Given the description of an element on the screen output the (x, y) to click on. 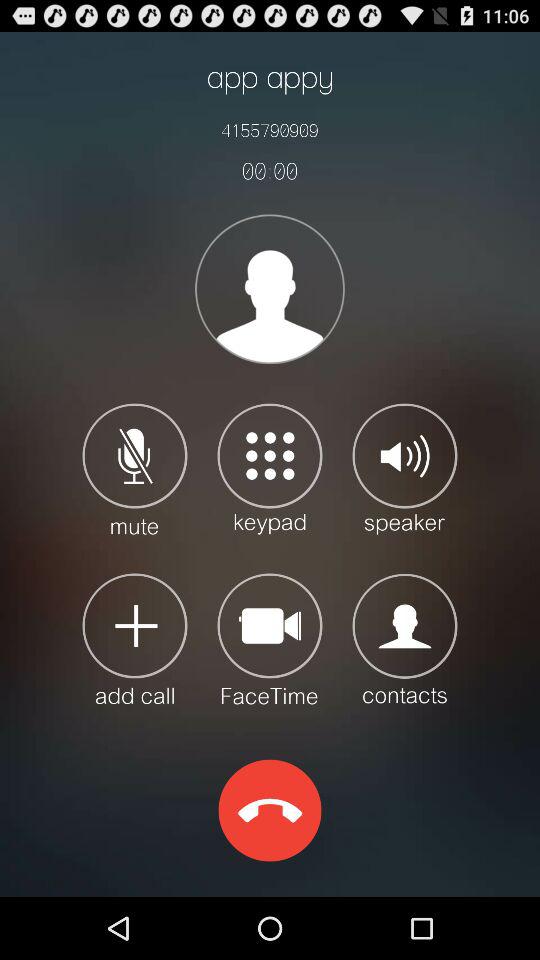
mute speaker (134, 468)
